Given the description of an element on the screen output the (x, y) to click on. 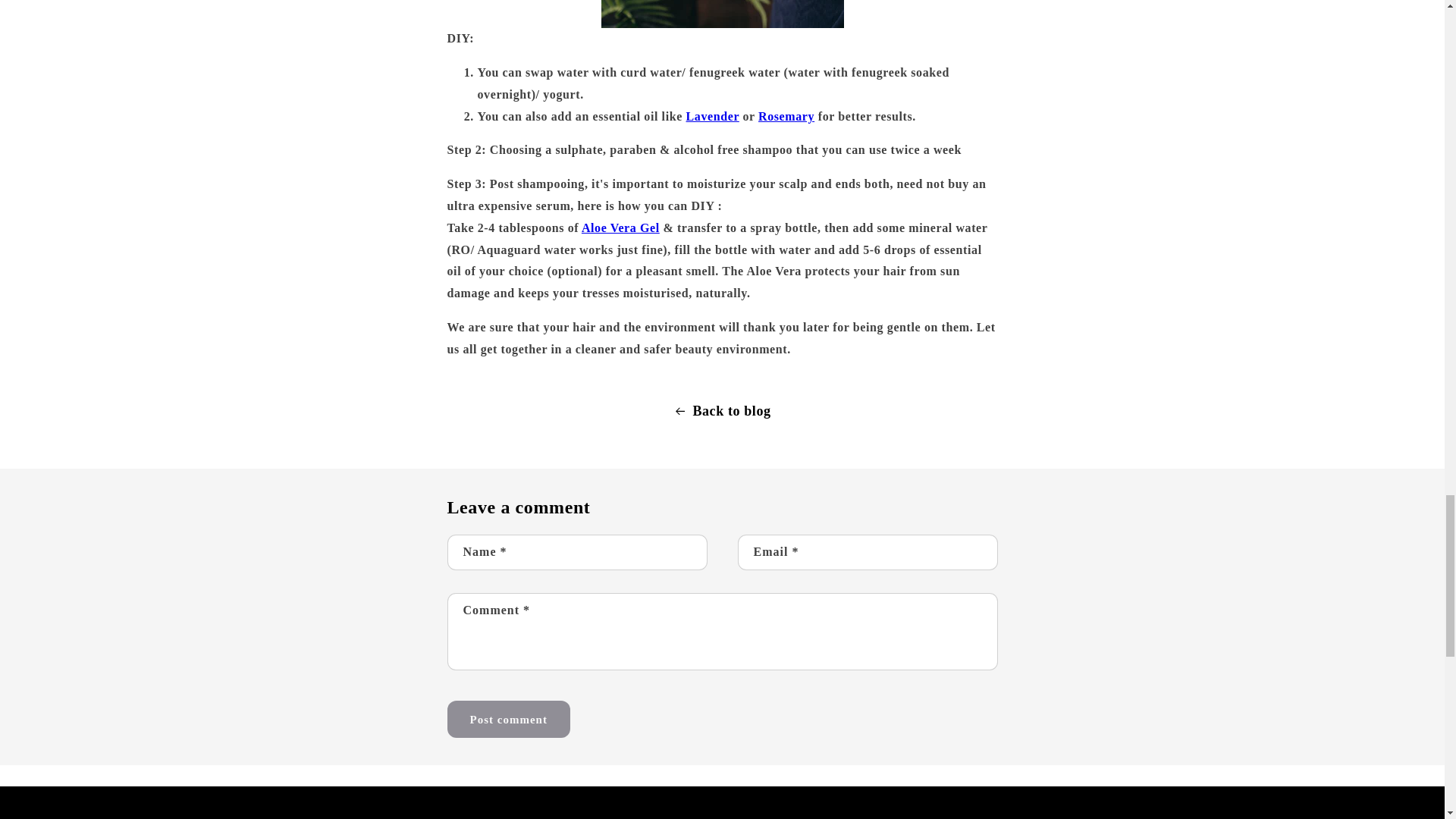
Post comment (508, 719)
